Given the description of an element on the screen output the (x, y) to click on. 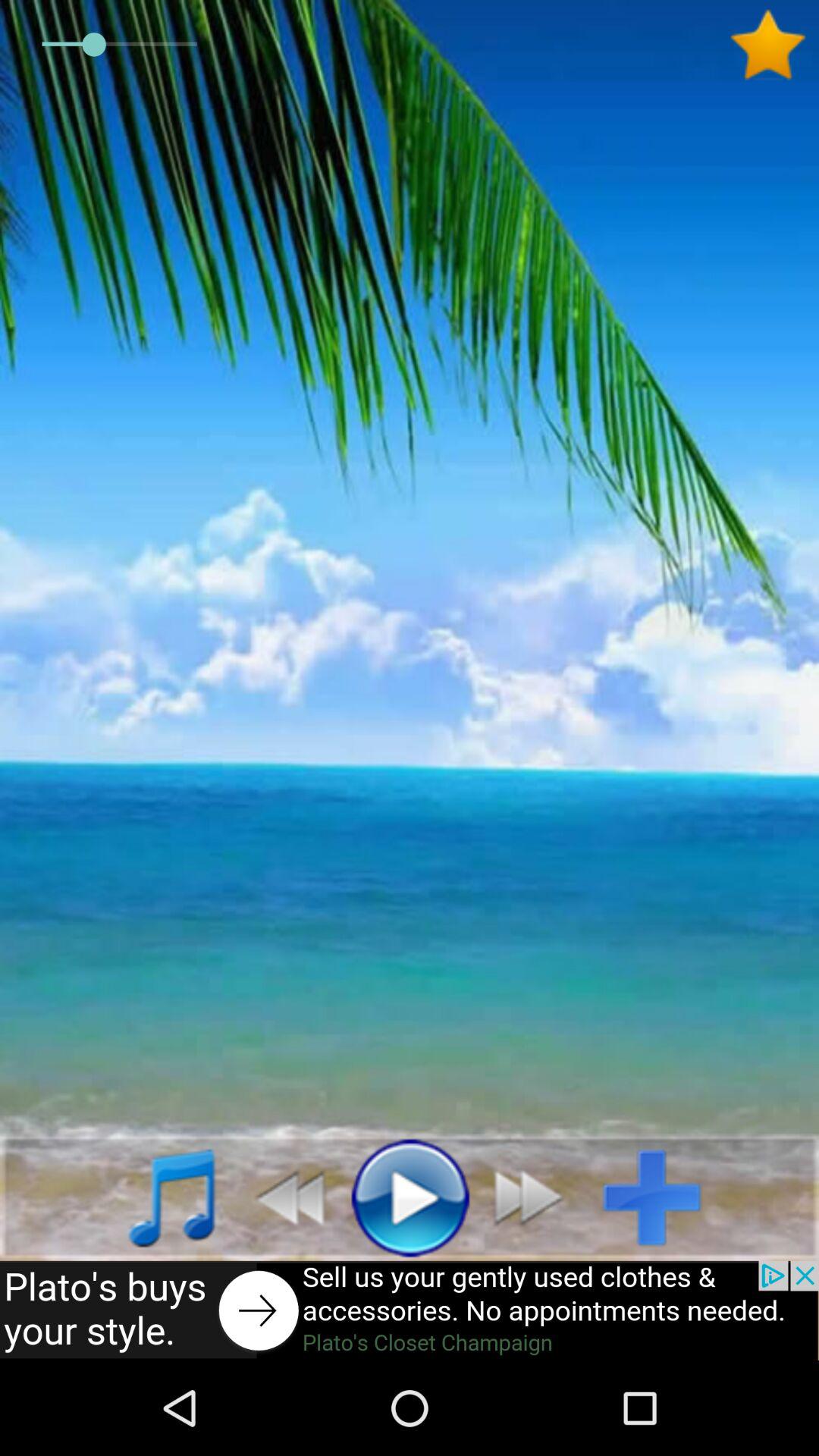
unfavourite this music (774, 44)
